Given the description of an element on the screen output the (x, y) to click on. 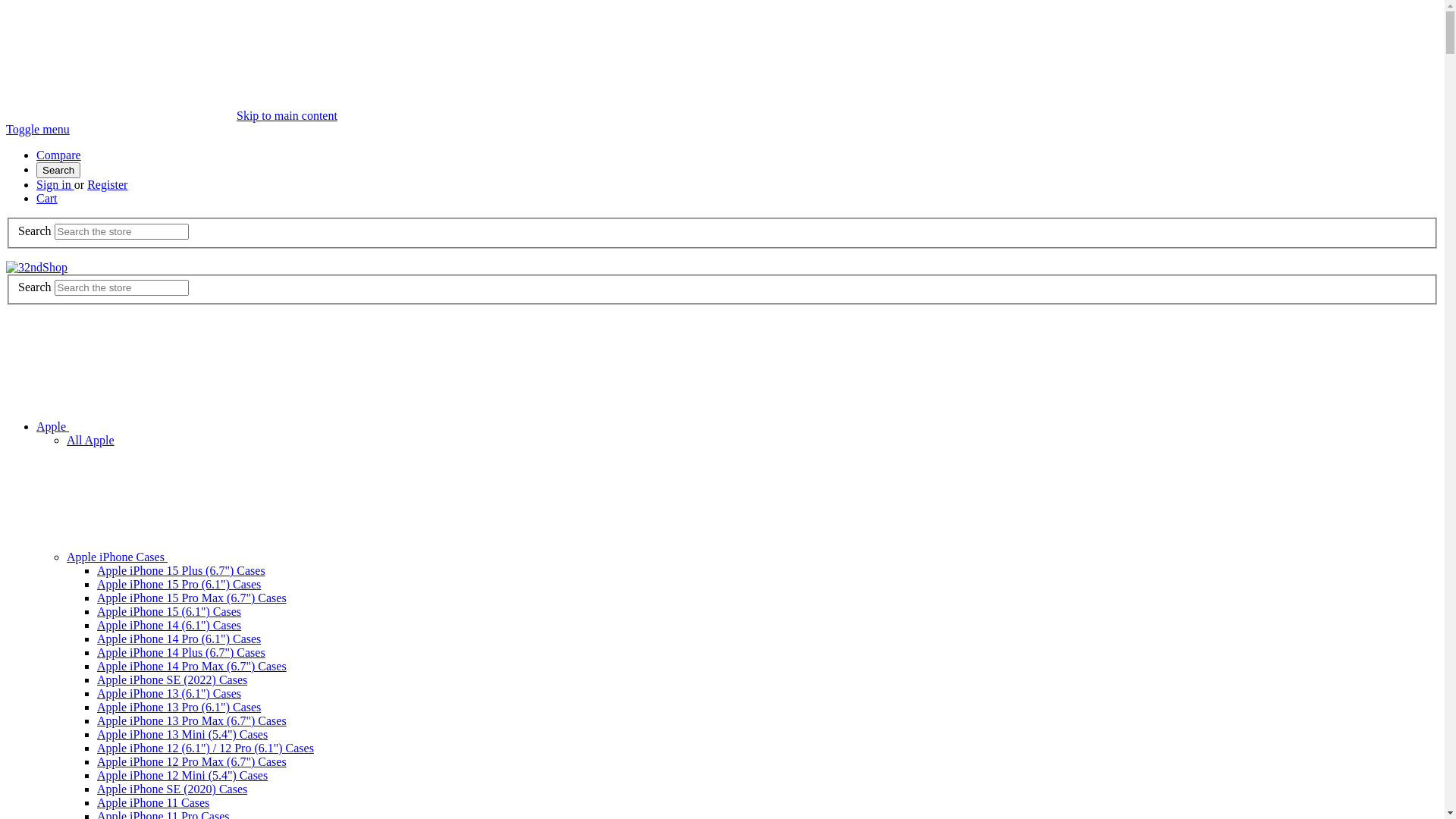
Apple iPhone 12 (6.1") / 12 Pro (6.1") Cases Element type: text (205, 747)
Apple iPhone 12 Mini (5.4") Cases Element type: text (182, 774)
Apple iPhone 15 Pro (6.1") Cases Element type: text (178, 583)
Register Element type: text (107, 184)
Apple iPhone 13 Pro (6.1") Cases Element type: text (178, 706)
Compare Element type: text (58, 154)
Apple iPhone 12 Pro Max (6.7") Cases Element type: text (191, 761)
Apple iPhone 15 (6.1") Cases Element type: text (169, 611)
Apple iPhone 13 (6.1") Cases Element type: text (169, 693)
Apple iPhone 14 Pro (6.1") Cases Element type: text (178, 638)
Apple iPhone SE (2022) Cases Element type: text (172, 679)
Apple Element type: text (166, 426)
Apple iPhone 13 Pro Max (6.7") Cases Element type: text (191, 720)
Toggle menu Element type: text (37, 128)
Apple iPhone 13 Mini (5.4") Cases Element type: text (182, 734)
Sign in Element type: text (55, 184)
Search Element type: text (58, 170)
Apple iPhone 14 (6.1") Cases Element type: text (169, 624)
Cart Element type: text (46, 197)
All Apple Element type: text (90, 439)
Apple iPhone SE (2020) Cases Element type: text (172, 788)
Skip to main content Element type: text (286, 115)
Apple iPhone 11 Cases Element type: text (153, 802)
Apple iPhone 15 Plus (6.7") Cases Element type: text (181, 570)
Apple iPhone Cases Element type: text (230, 556)
Apple iPhone 15 Pro Max (6.7") Cases Element type: text (191, 597)
Apple iPhone 14 Pro Max (6.7") Cases Element type: text (191, 665)
32ndShop Element type: hover (36, 267)
Apple iPhone 14 Plus (6.7") Cases Element type: text (181, 652)
